Given the description of an element on the screen output the (x, y) to click on. 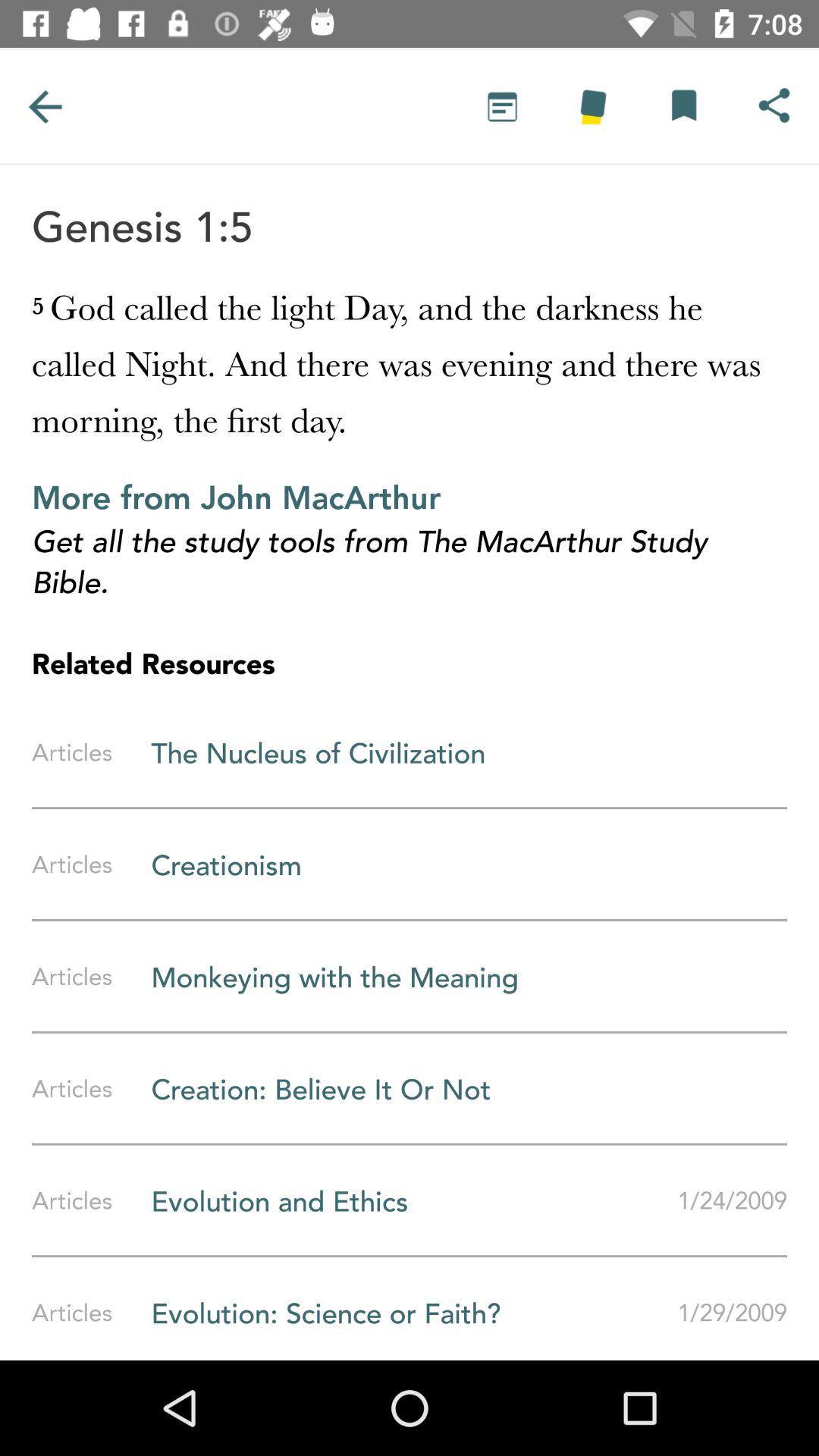
text option (502, 106)
